Given the description of an element on the screen output the (x, y) to click on. 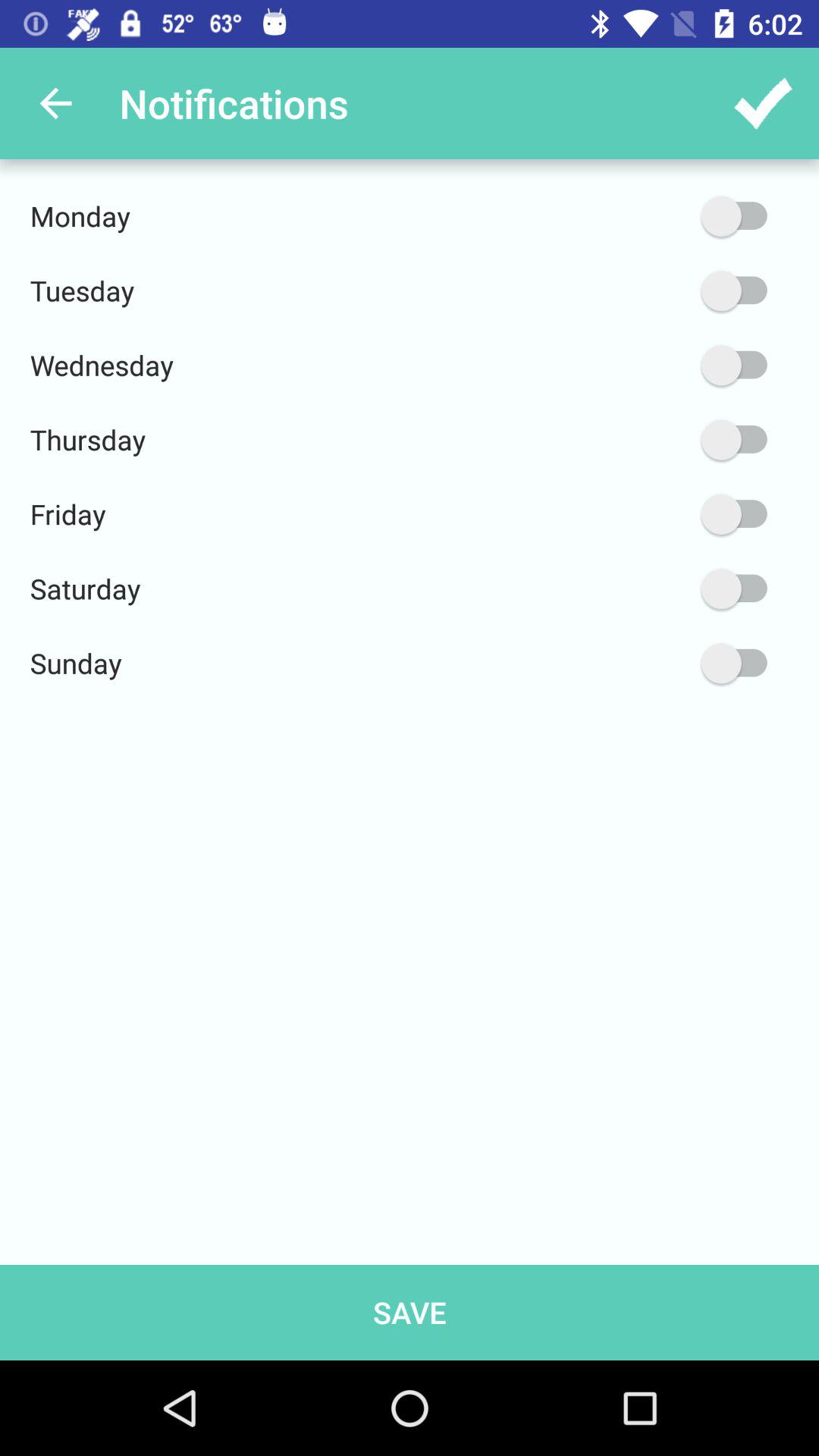
turn on the icon next to the tuesday icon (661, 290)
